Given the description of an element on the screen output the (x, y) to click on. 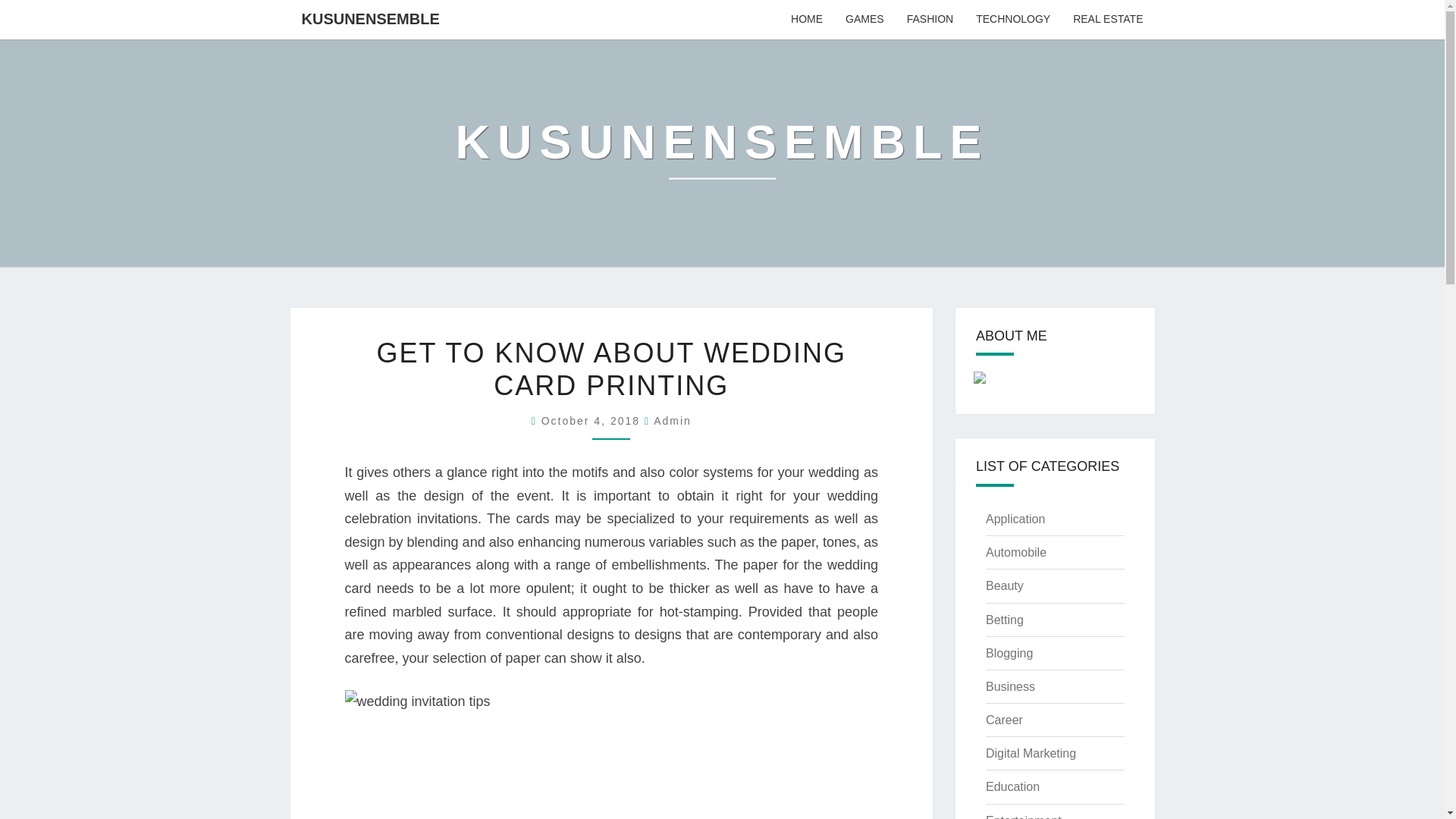
Kusunensemble (721, 152)
GAMES (864, 19)
TECHNOLOGY (1012, 19)
FASHION (929, 19)
Application (1015, 518)
Entertainment (1023, 816)
Education (1012, 786)
Digital Marketing (1030, 753)
Beauty (1004, 585)
KUSUNENSEMBLE (721, 152)
